Given the description of an element on the screen output the (x, y) to click on. 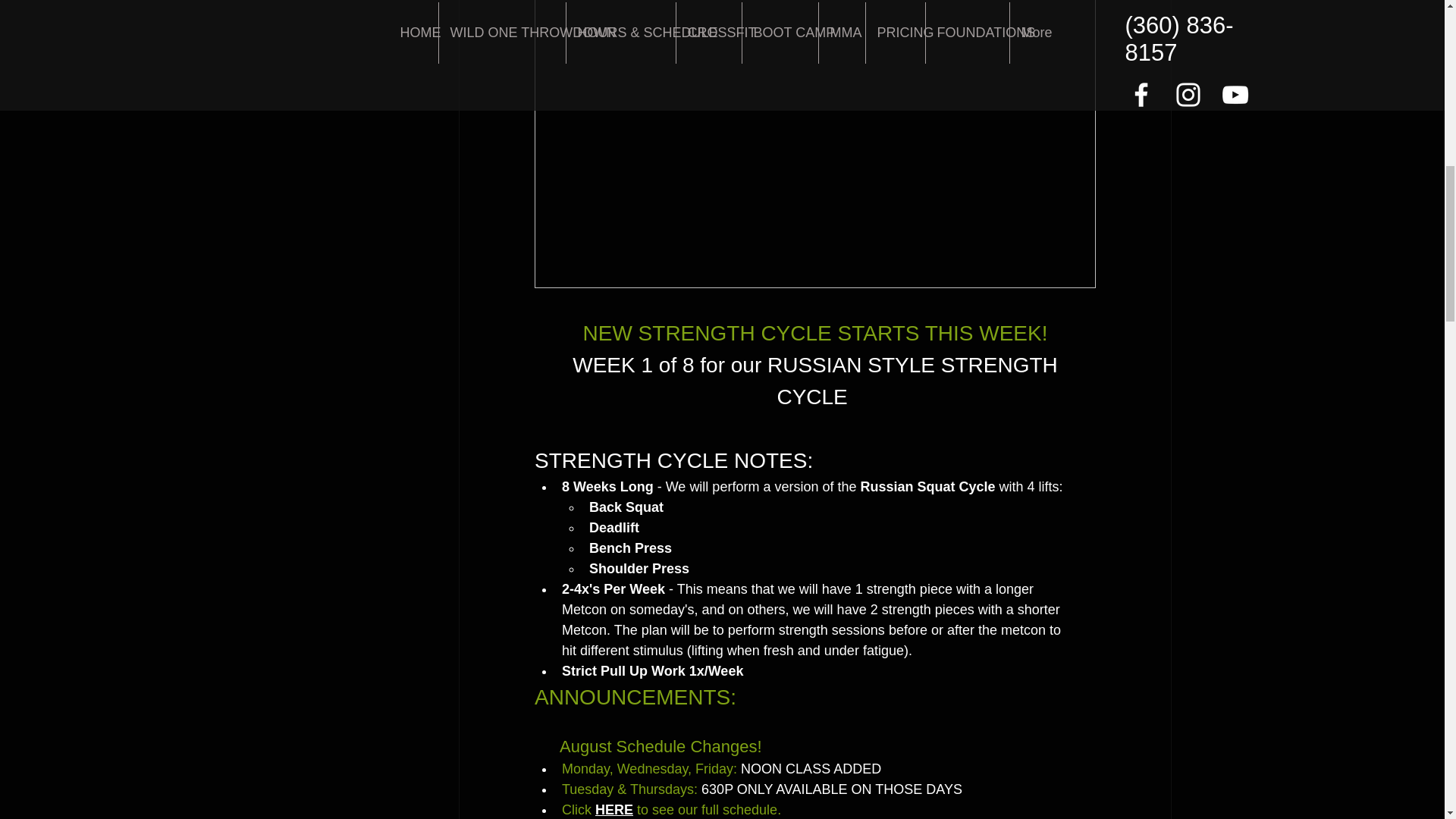
HERE (612, 809)
